Given the description of an element on the screen output the (x, y) to click on. 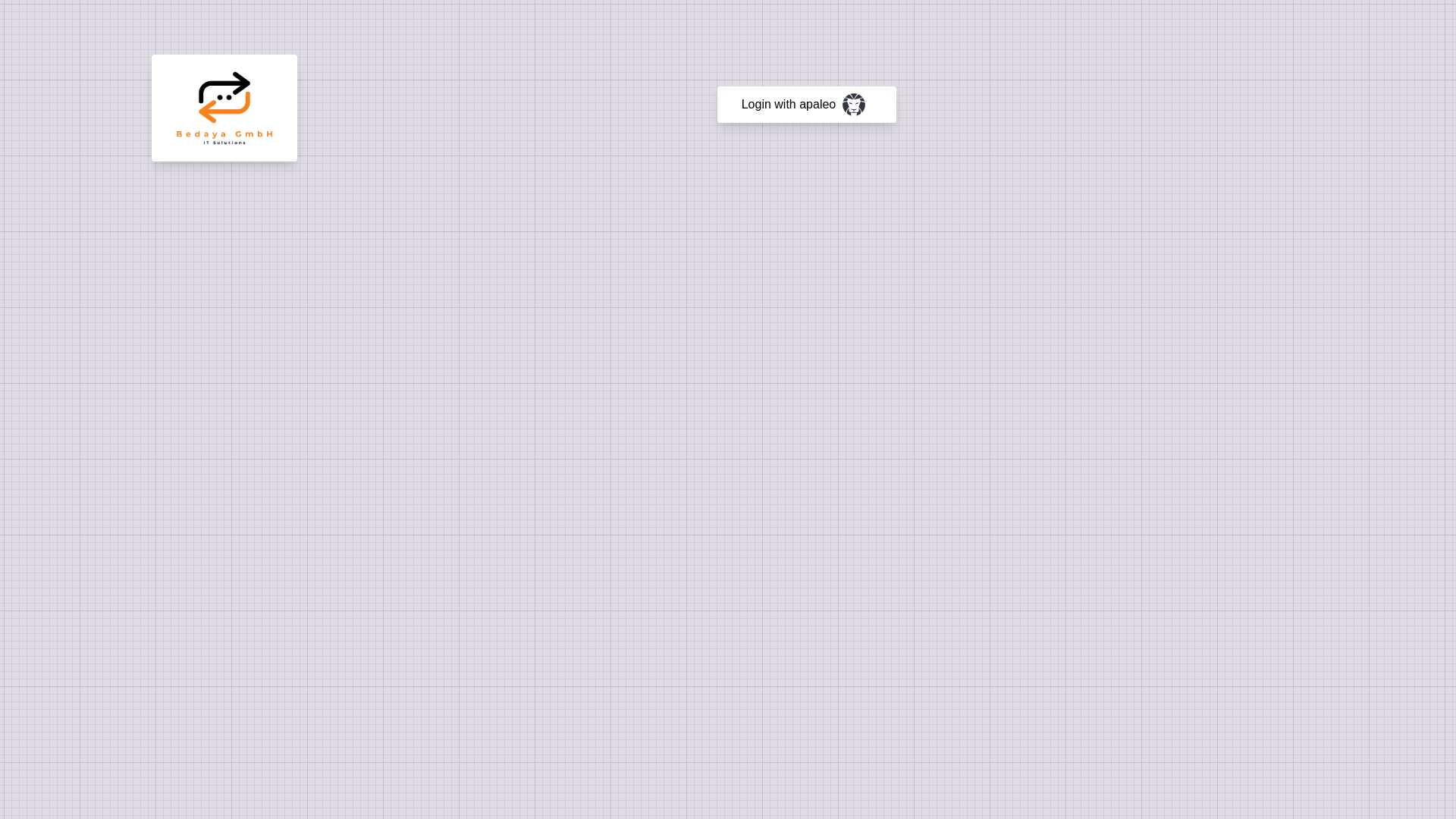
Login with apaleo Element type: text (807, 104)
